Given the description of an element on the screen output the (x, y) to click on. 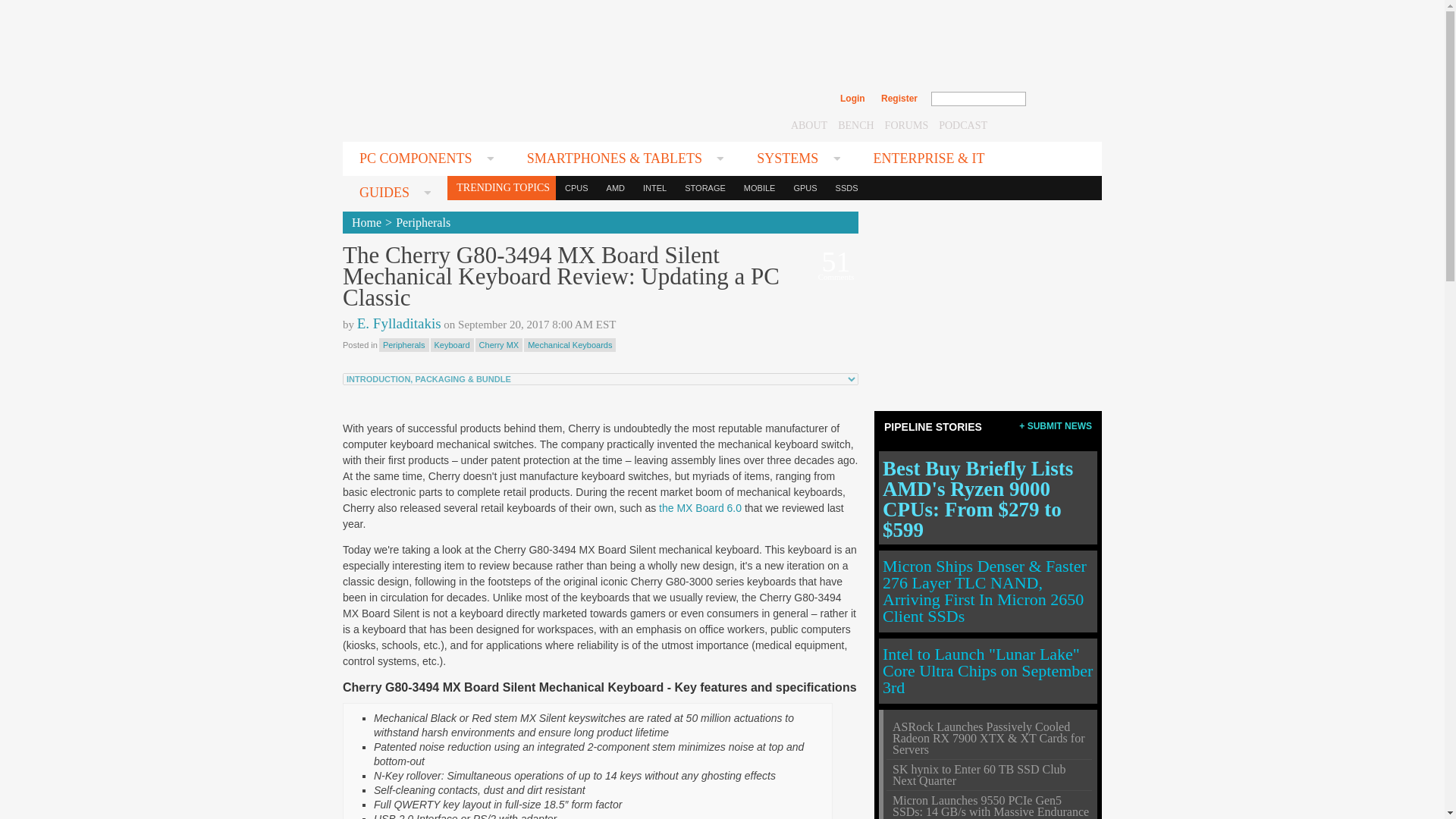
BENCH (855, 125)
FORUMS (906, 125)
search (1059, 98)
PODCAST (963, 125)
Login (852, 98)
search (1059, 98)
search (1059, 98)
ABOUT (808, 125)
Register (898, 98)
